Given the description of an element on the screen output the (x, y) to click on. 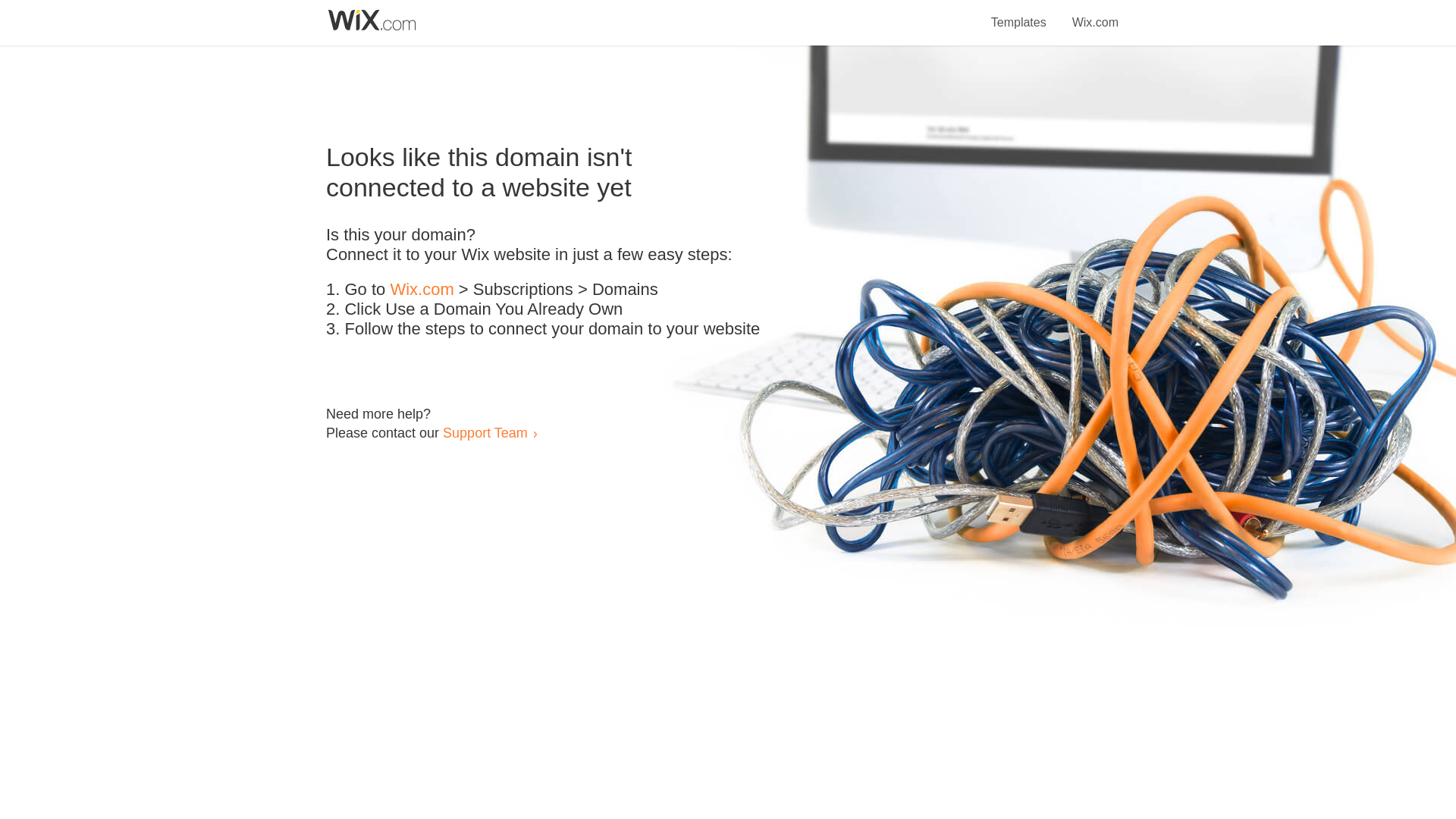
Wix.com (1095, 14)
Support Team (484, 432)
Wix.com (421, 289)
Templates (1018, 14)
